Given the description of an element on the screen output the (x, y) to click on. 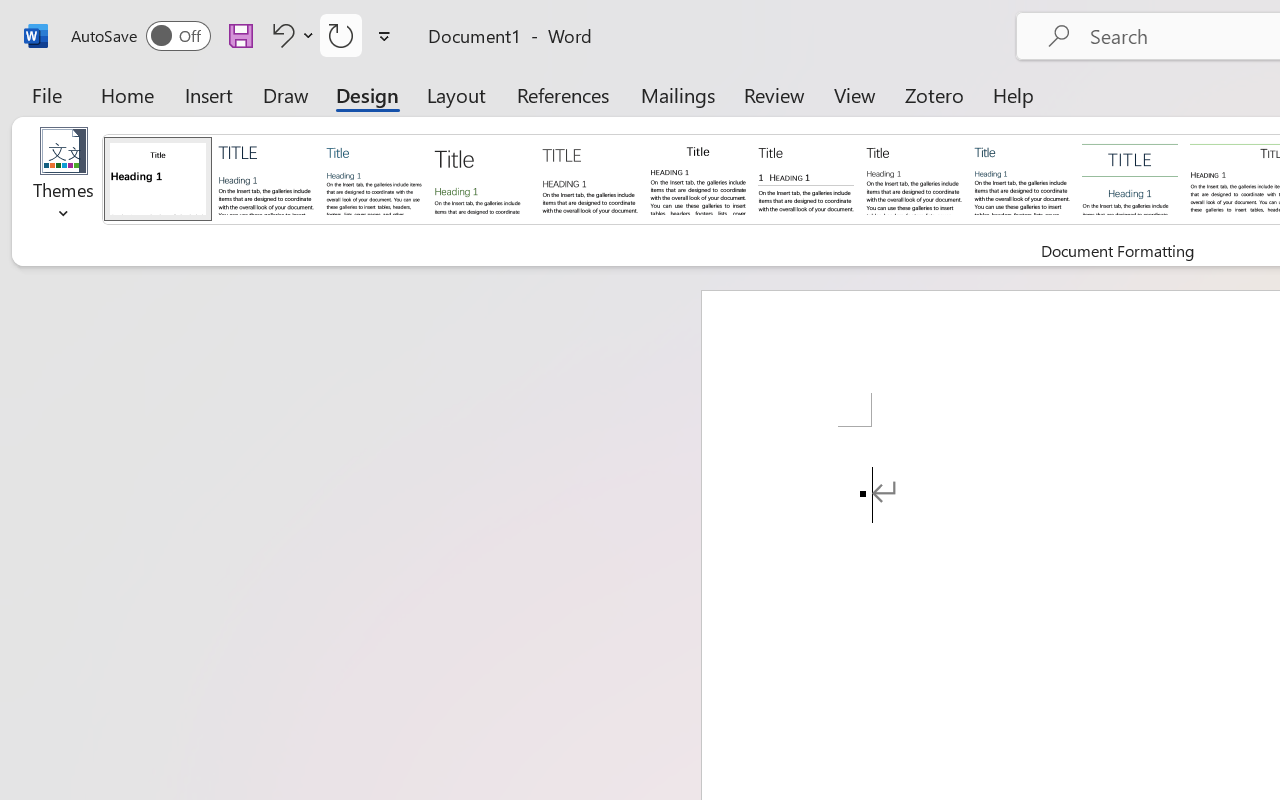
Document (157, 178)
Undo Style (290, 35)
Black & White (Classic) (697, 178)
Black & White (Capitalized) (589, 178)
Black & White (Word 2013) (913, 178)
Themes (63, 179)
